Given the description of an element on the screen output the (x, y) to click on. 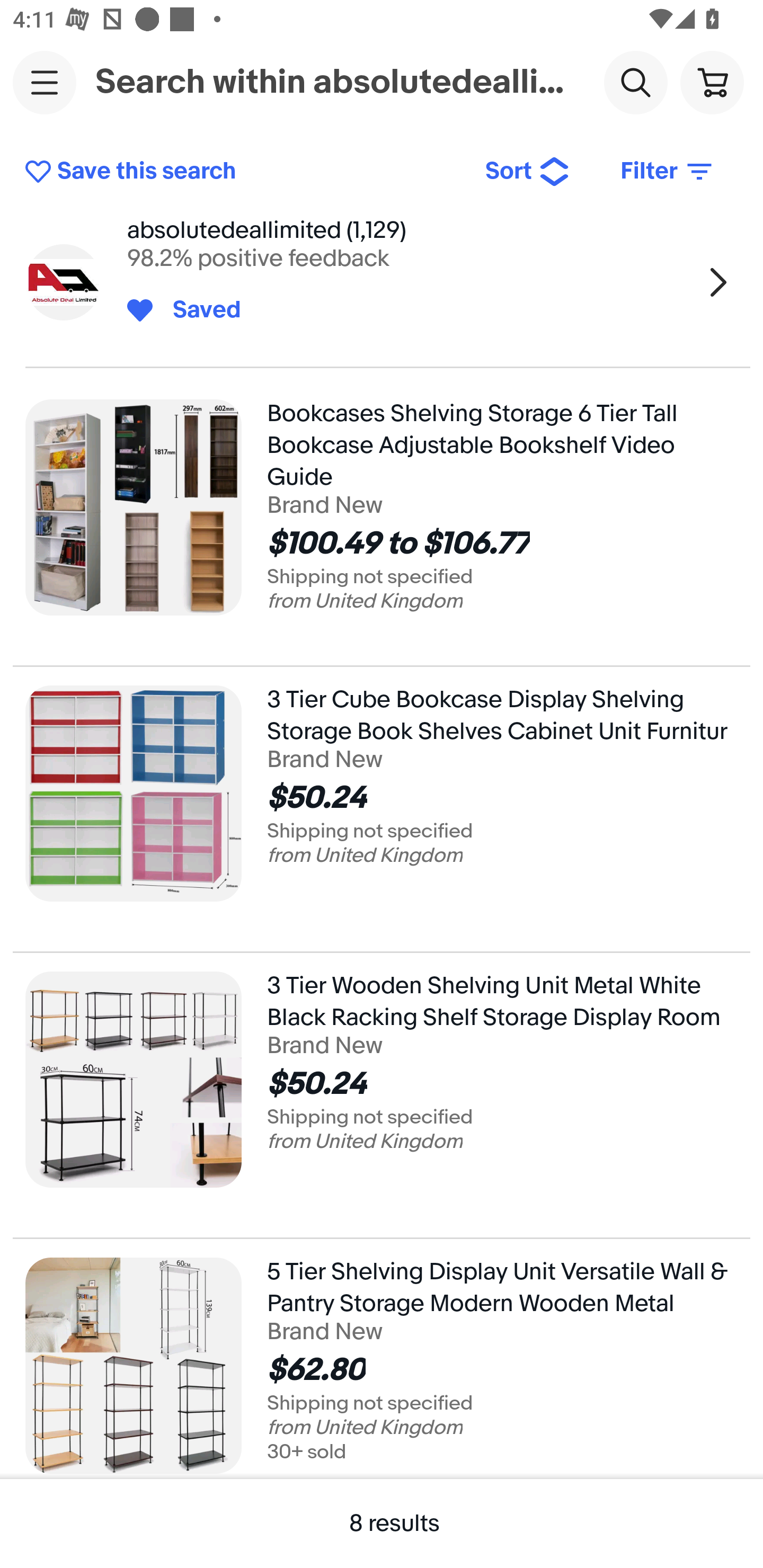
Main navigation, open (44, 82)
Search (635, 81)
Cart button shopping cart (711, 81)
Save this search (241, 171)
Sort (527, 171)
Filter (667, 171)
Saved (197, 310)
